Given the description of an element on the screen output the (x, y) to click on. 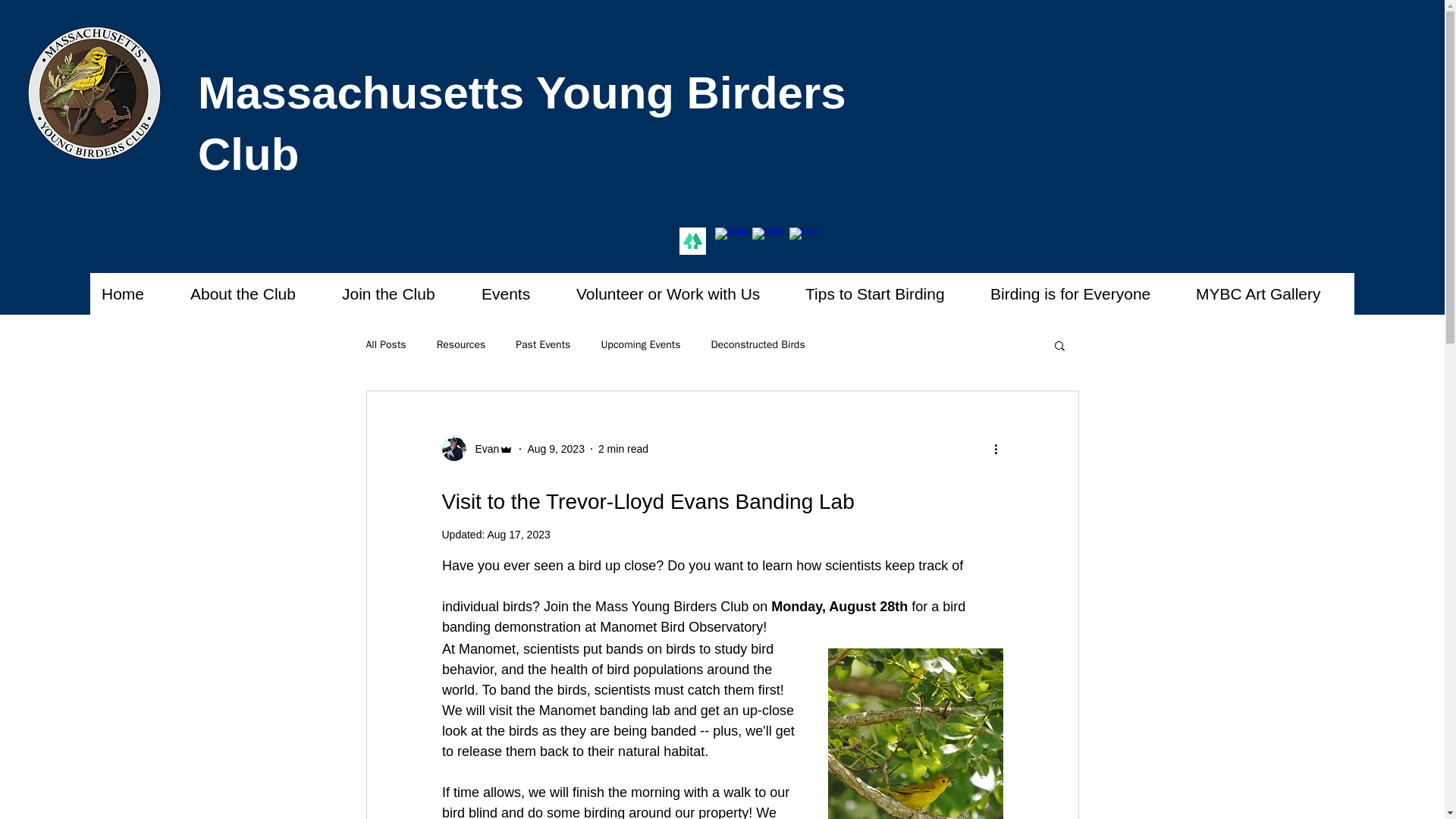
Evan (477, 448)
Volunteer or Work with Us (678, 293)
Aug 17, 2023 (518, 534)
2 min read (622, 449)
All Posts (385, 345)
Aug 9, 2023 (556, 449)
Join the Club (399, 293)
Past Events (542, 345)
MYBC Art Gallery (1268, 293)
Massachusetts Young Birders Club (521, 123)
